Given the description of an element on the screen output the (x, y) to click on. 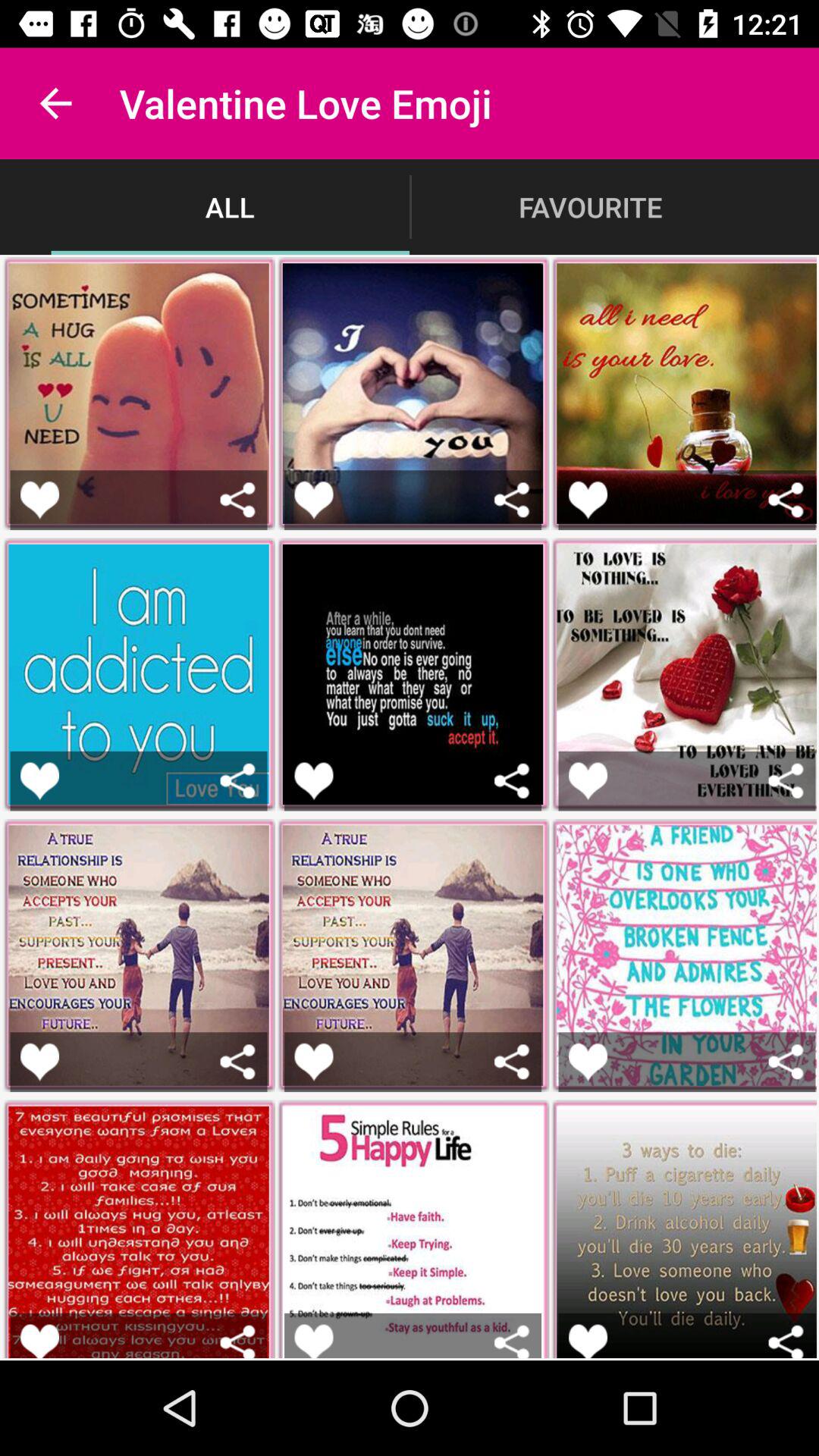
android share (785, 1061)
